Given the description of an element on the screen output the (x, y) to click on. 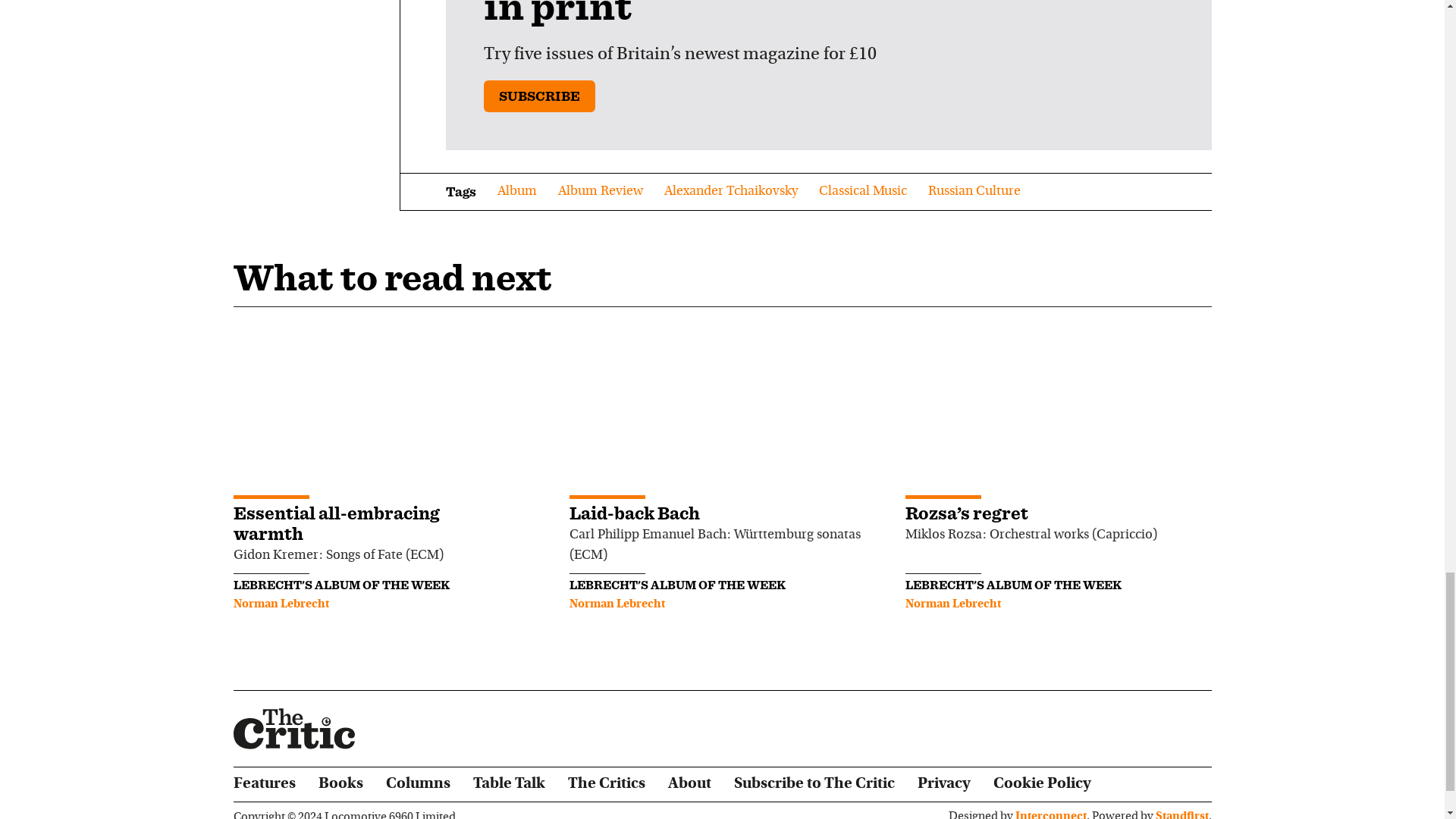
Posts by Norman Lebrecht (617, 604)
Posts by Norman Lebrecht (280, 604)
Norman Lebrecht (280, 604)
Posts by Norman Lebrecht (953, 604)
Album Review (600, 191)
Russian Culture (974, 191)
Album (517, 191)
LEBRECHT'S ALBUM OF THE WEEK (340, 585)
Alexander Tchaikovsky (730, 191)
Classical Music (862, 191)
